Given the description of an element on the screen output the (x, y) to click on. 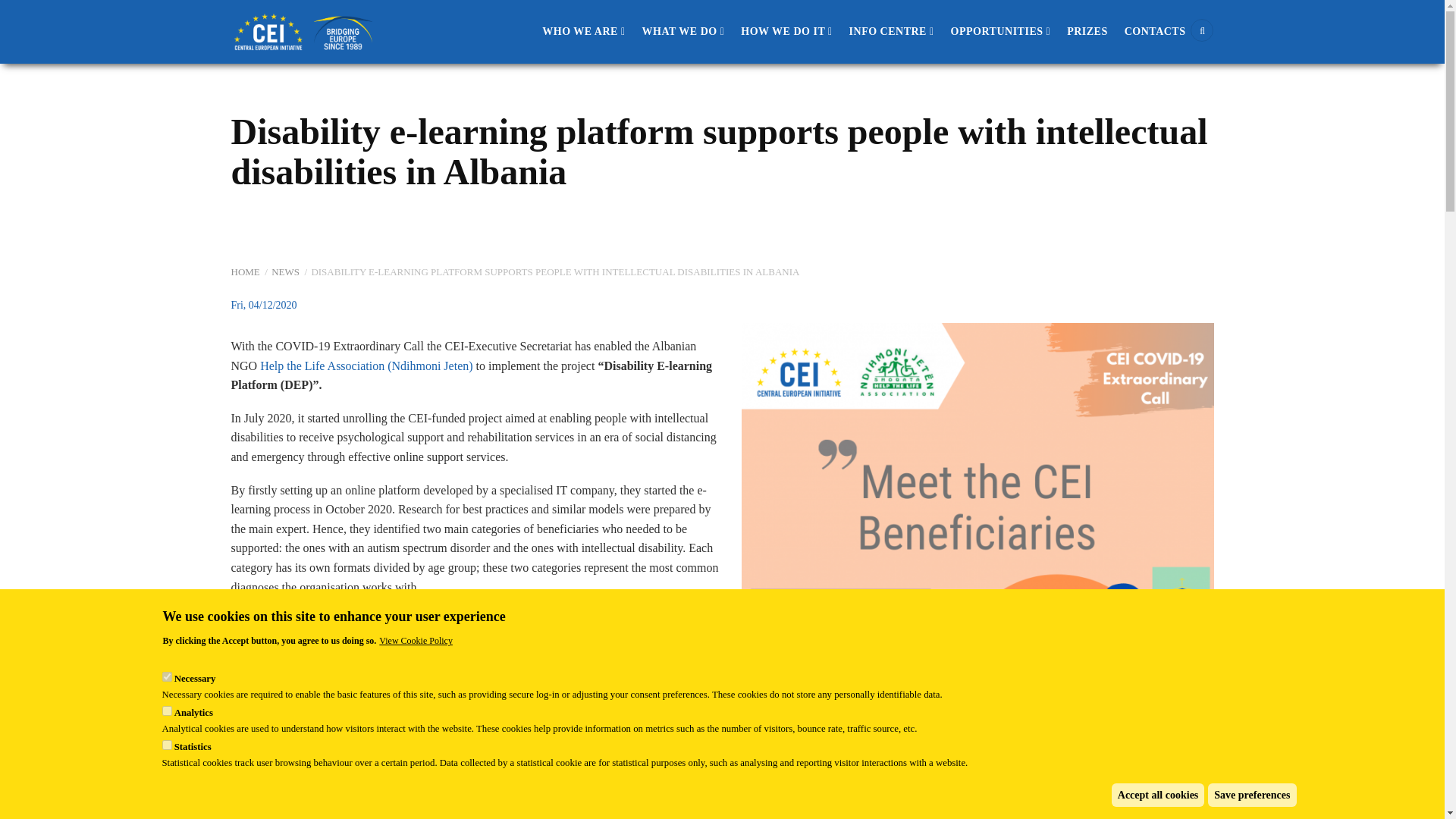
WHAT WE DO (683, 31)
Home (304, 30)
WHO WE ARE (583, 31)
necessary (166, 676)
analytics (166, 710)
statistics (166, 745)
